Given the description of an element on the screen output the (x, y) to click on. 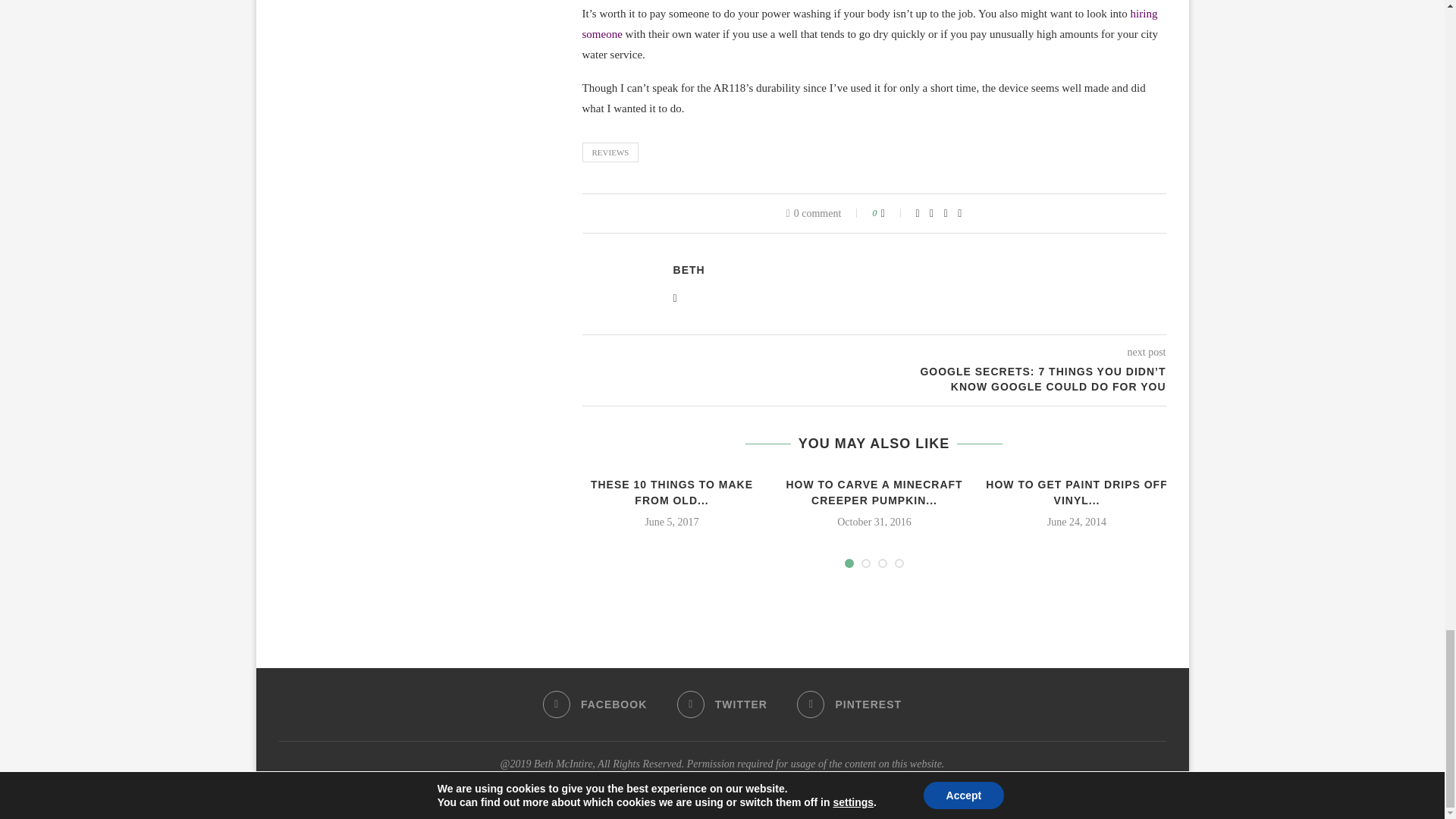
Posts by Beth (688, 270)
Like (892, 213)
